Given the description of an element on the screen output the (x, y) to click on. 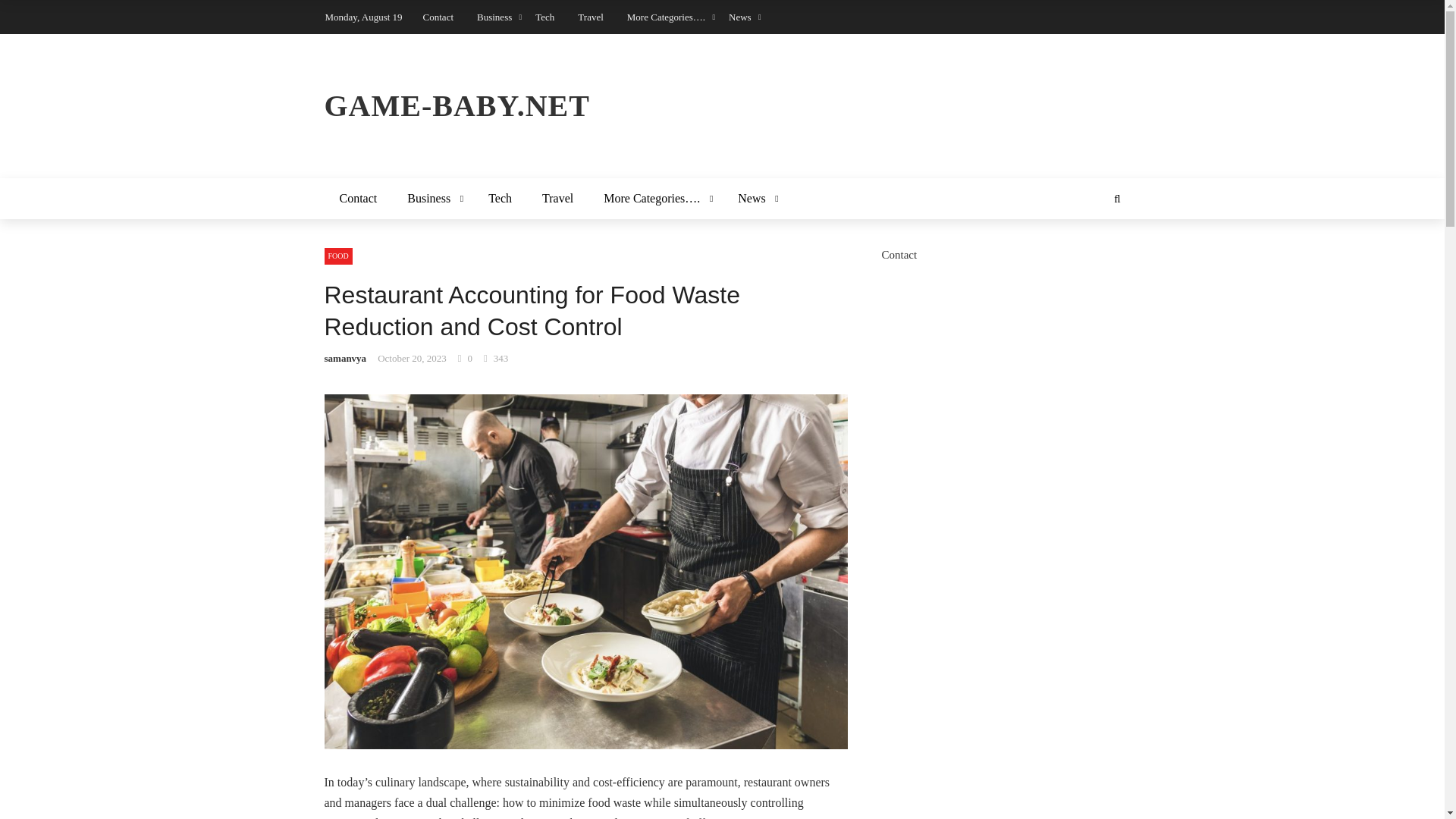
Business (494, 16)
News (754, 198)
Tech (500, 198)
GAME-BABY.NET (722, 106)
Travel (590, 16)
Contact (437, 16)
Travel (557, 198)
News (740, 16)
Contact (358, 198)
Tech (544, 16)
